Given the description of an element on the screen output the (x, y) to click on. 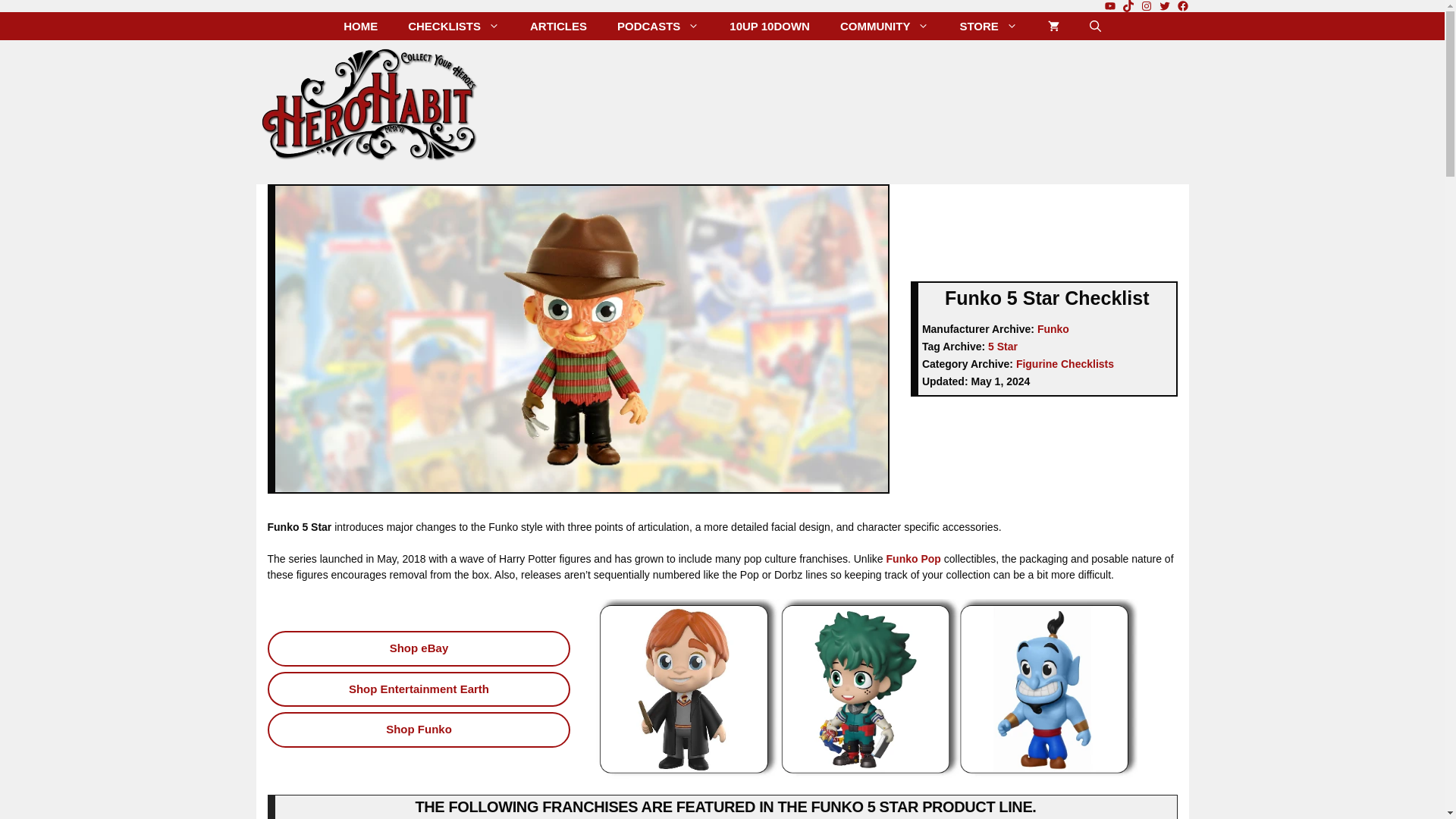
Facebook (1182, 6)
TikTok (1128, 6)
Instagram (1146, 6)
ARTICLES (558, 26)
Shop Entertainment Earth (418, 689)
10UP 10DOWN (769, 26)
Shop Funko (418, 729)
CHECKLISTS (454, 26)
COMMUNITY (884, 26)
Twitter (1164, 6)
